Given the description of an element on the screen output the (x, y) to click on. 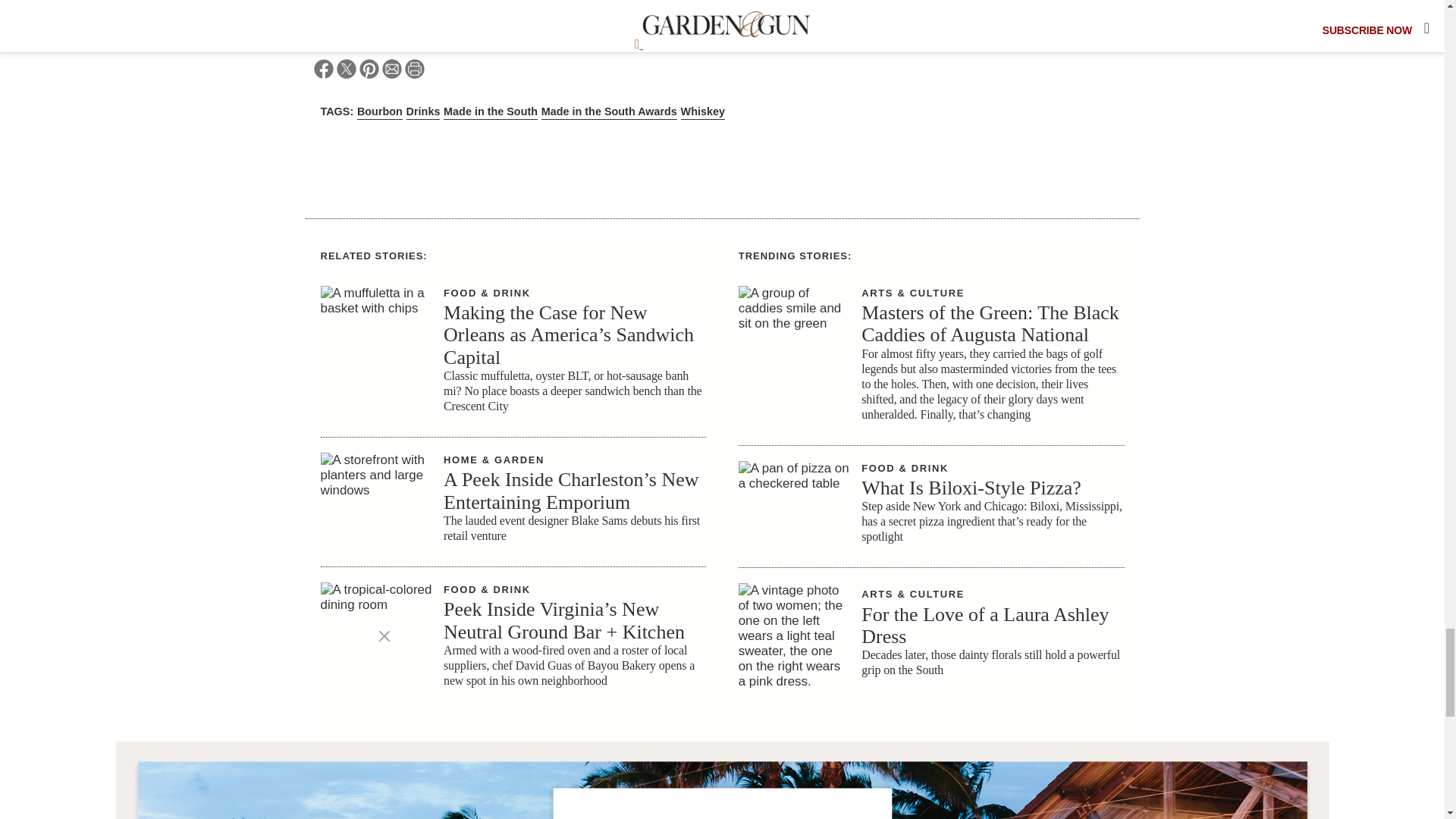
Email (390, 71)
Print (414, 71)
Share on X (345, 71)
Share on Pinterest (368, 71)
Share on Facebook (323, 71)
